Given the description of an element on the screen output the (x, y) to click on. 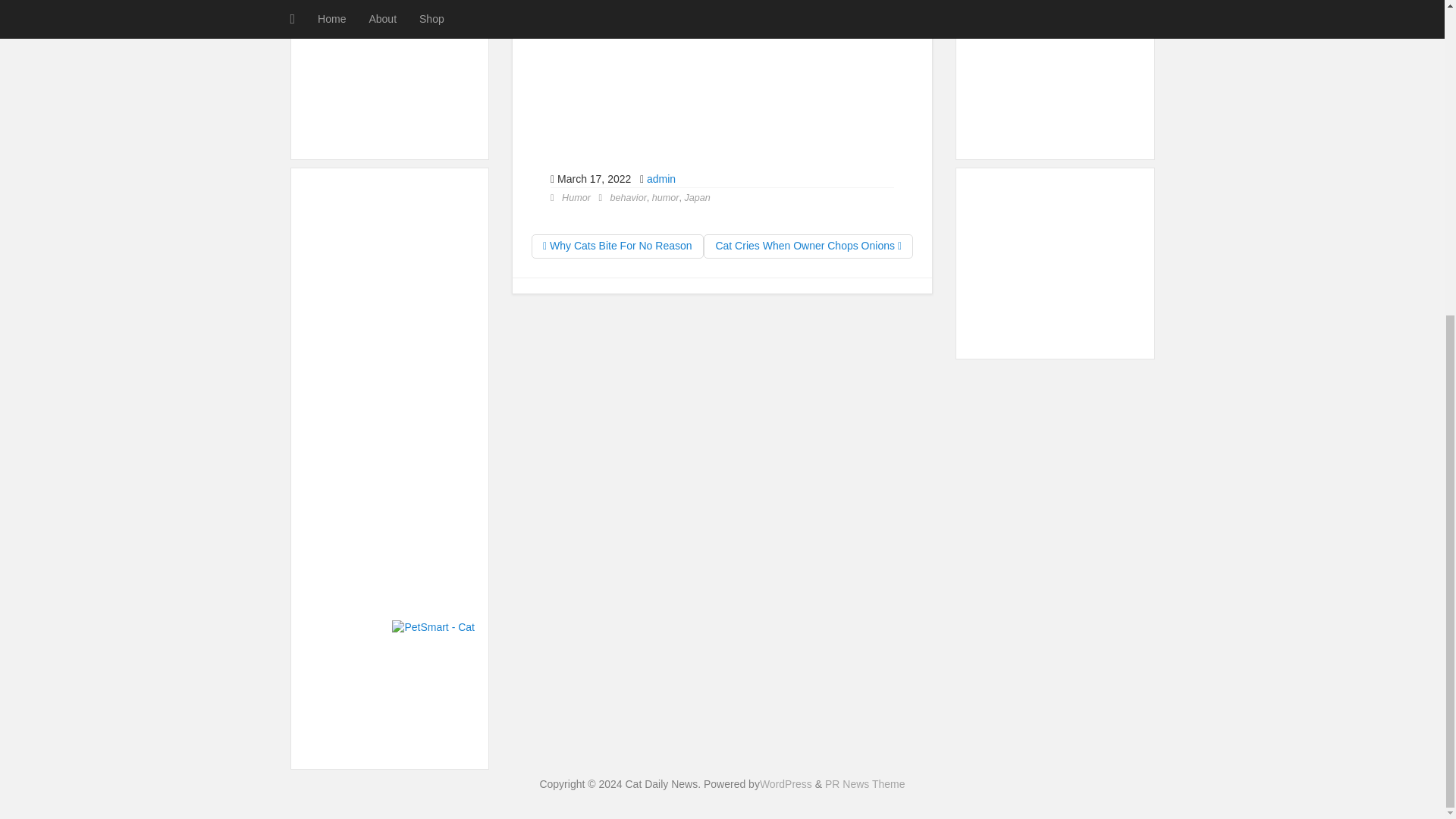
WordPress (786, 784)
Posts by admin (660, 178)
Japan (697, 197)
WordPress (786, 784)
PR News Theme (865, 784)
Humor (576, 197)
Why Cats Bite For No Reason (617, 246)
Cat Cries When Owner Chops Onions (807, 246)
PR News Theme (865, 784)
admin (660, 178)
